Given the description of an element on the screen output the (x, y) to click on. 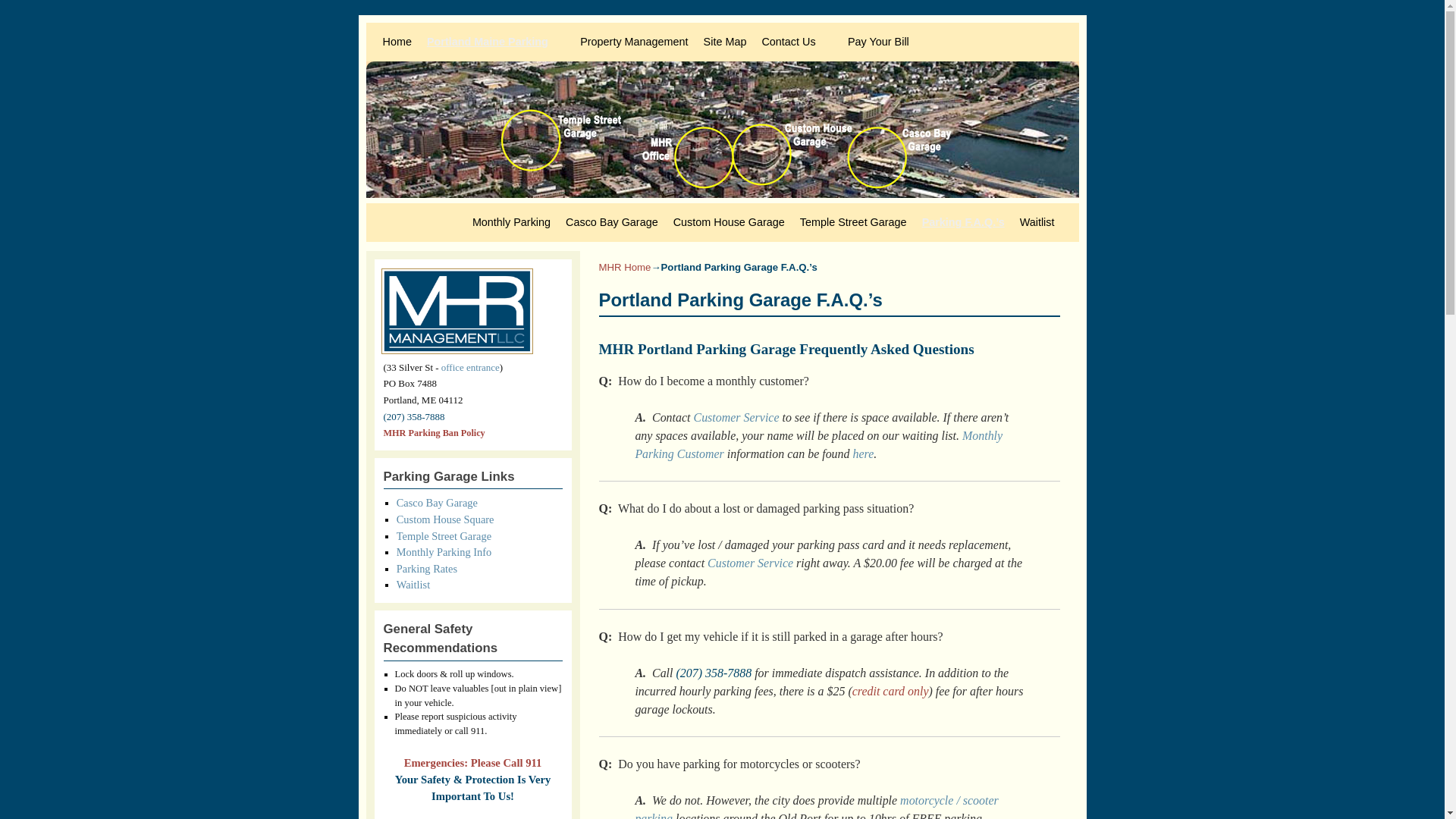
Customer Service (735, 417)
Waitlist (412, 584)
Temple Street Garage (853, 222)
MHR Management LLC (721, 129)
Customer Service (750, 562)
office entrance (470, 367)
Property Management (633, 41)
MHR Parking Ban Policy (434, 432)
Casco Bay Garage (436, 502)
Home (396, 41)
Site Map (724, 41)
Frequently Asked Questions (434, 432)
Monthly Parking (818, 444)
Skip to primary content (408, 29)
Casco Bay Garage (611, 222)
